Given the description of an element on the screen output the (x, y) to click on. 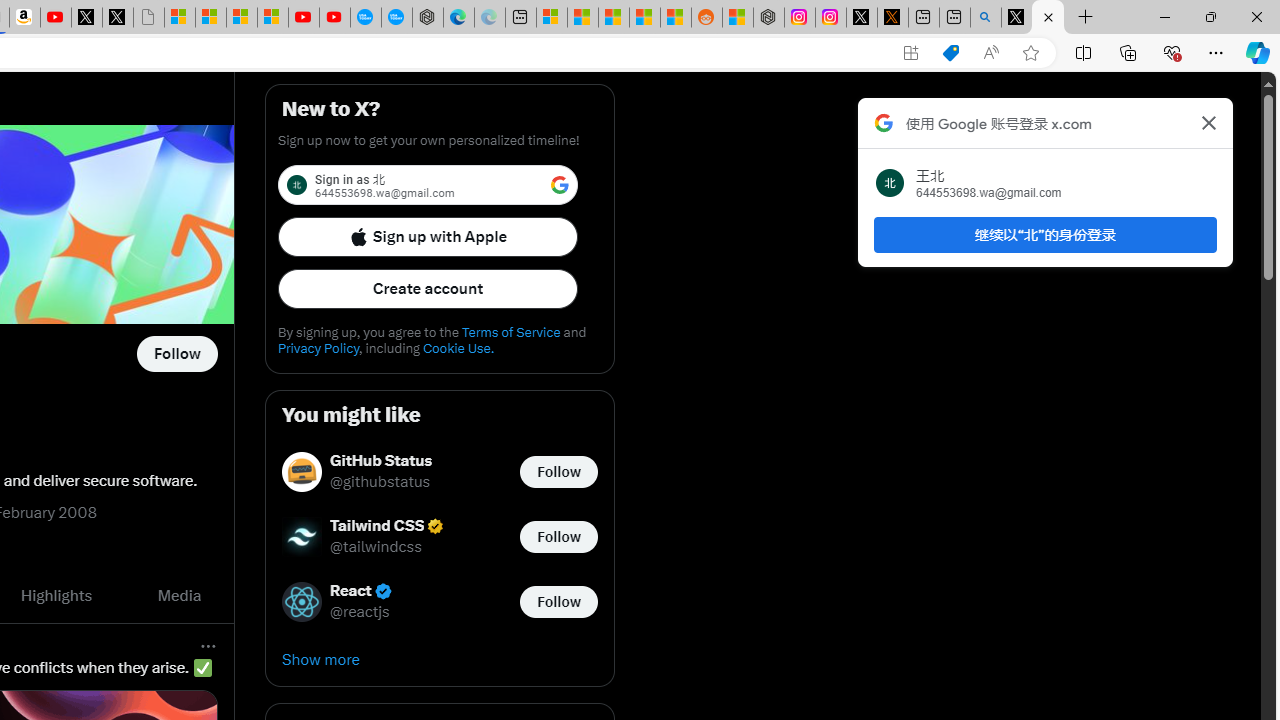
Untitled (148, 17)
Nordace - Nordace has arrived Hong Kong (427, 17)
Follow @tailwindcss (558, 535)
@tailwindcss (376, 547)
Shanghai, China hourly forecast | Microsoft Weather (613, 17)
Cookie Use. (458, 348)
